Given the description of an element on the screen output the (x, y) to click on. 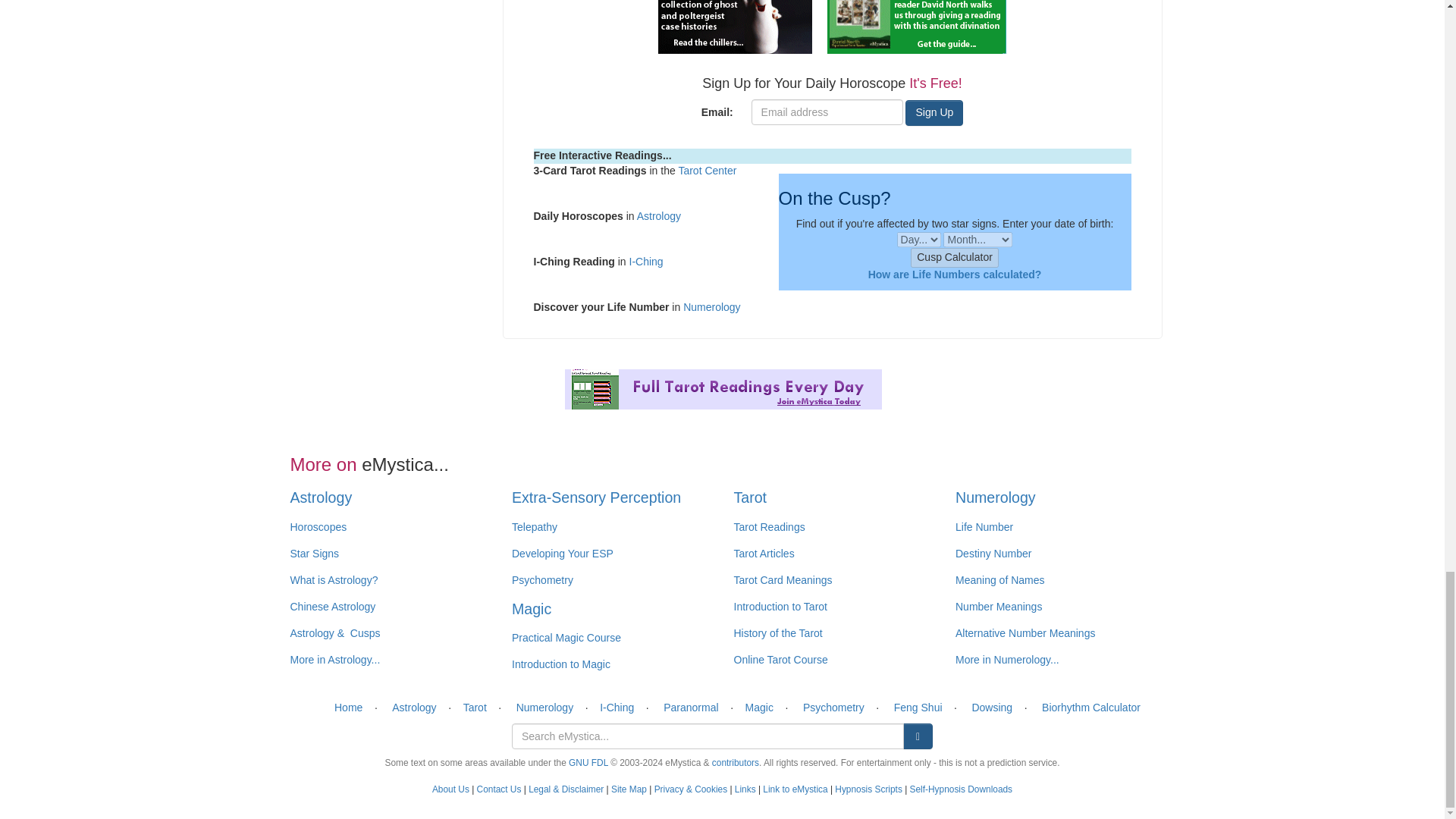
Sign Up (933, 112)
Cusp Calculator (954, 257)
